Given the description of an element on the screen output the (x, y) to click on. 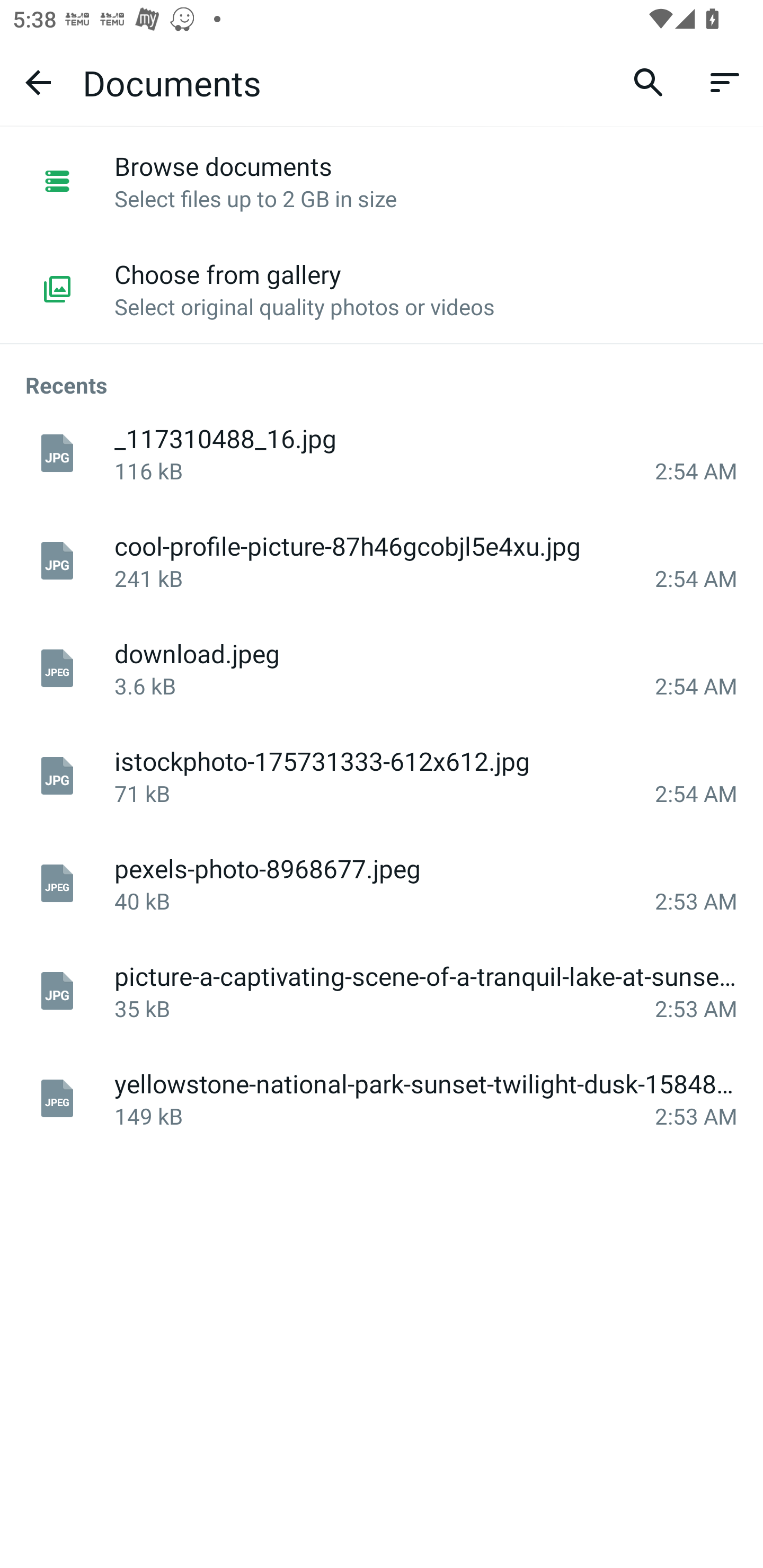
Navigate up (38, 82)
Search (648, 81)
Sort (724, 81)
Browse documents Select files up to 2 GB in size (381, 181)
_117310488_16.jpg 116 kB 2:54 AM 2:54 AM (381, 453)
download.jpeg 3.6 kB 2:54 AM 2:54 AM (381, 668)
pexels-photo-8968677.jpeg 40 kB 2:53 AM 2:53 AM (381, 883)
